Given the description of an element on the screen output the (x, y) to click on. 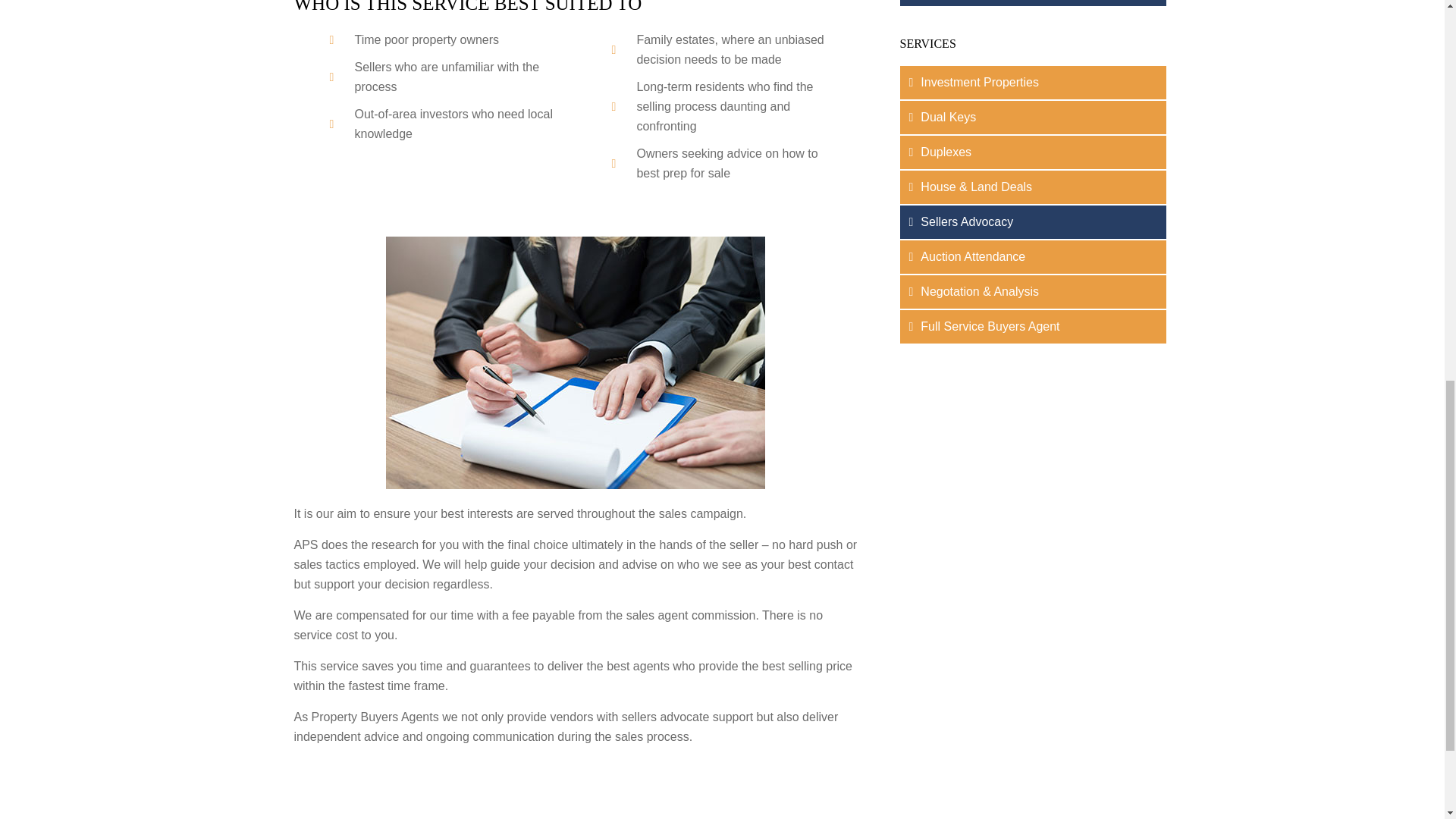
Full Service Buyers Agent (1032, 326)
Auction Attendance (1032, 256)
Duplexes (1032, 151)
Sellers Advocacy (1032, 222)
Services-Seller-Advocacy2 (575, 362)
Investment Properties (1032, 82)
Dual Keys (1032, 117)
